Given the description of an element on the screen output the (x, y) to click on. 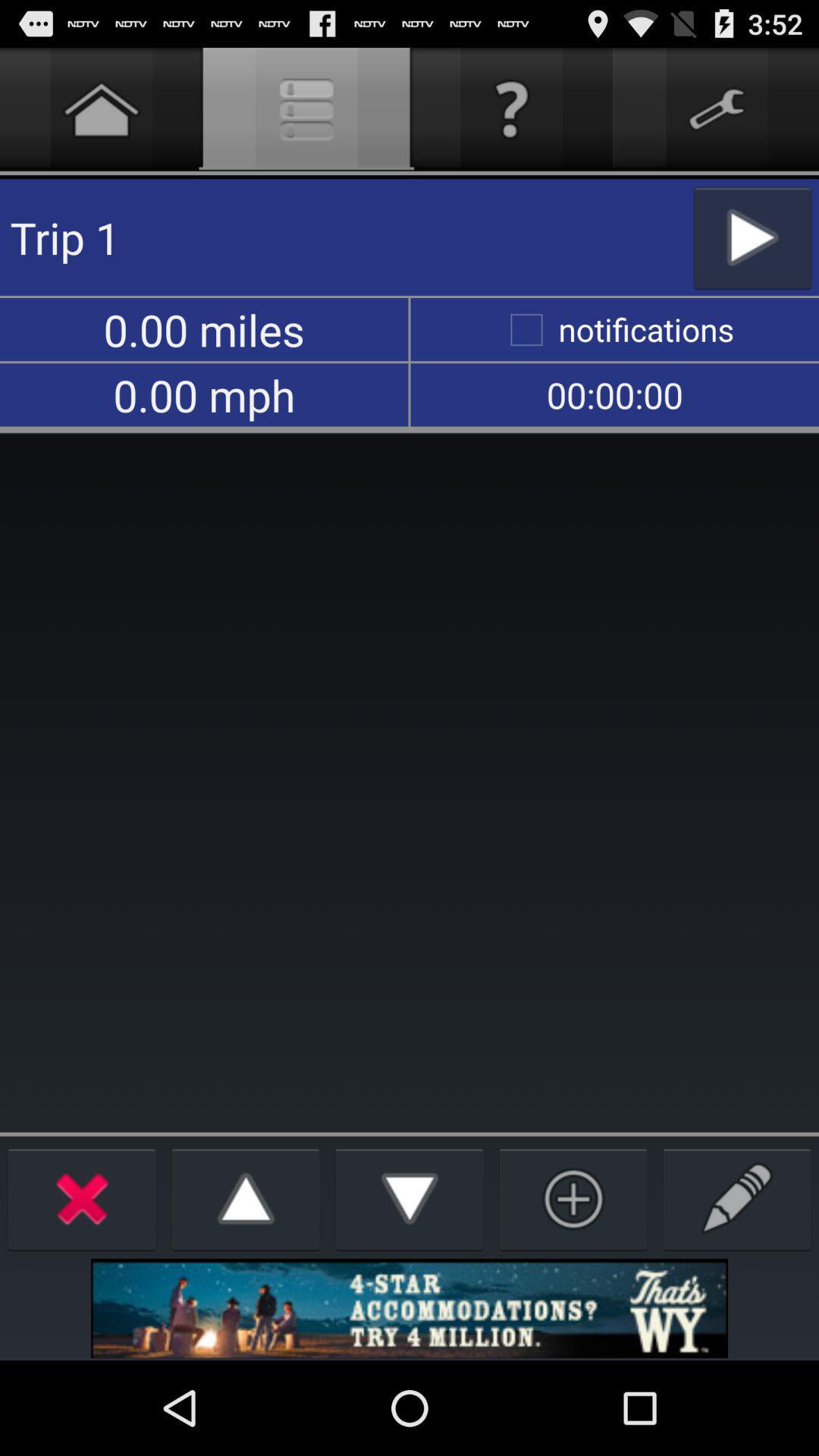
cancel trip recording (81, 1198)
